Given the description of an element on the screen output the (x, y) to click on. 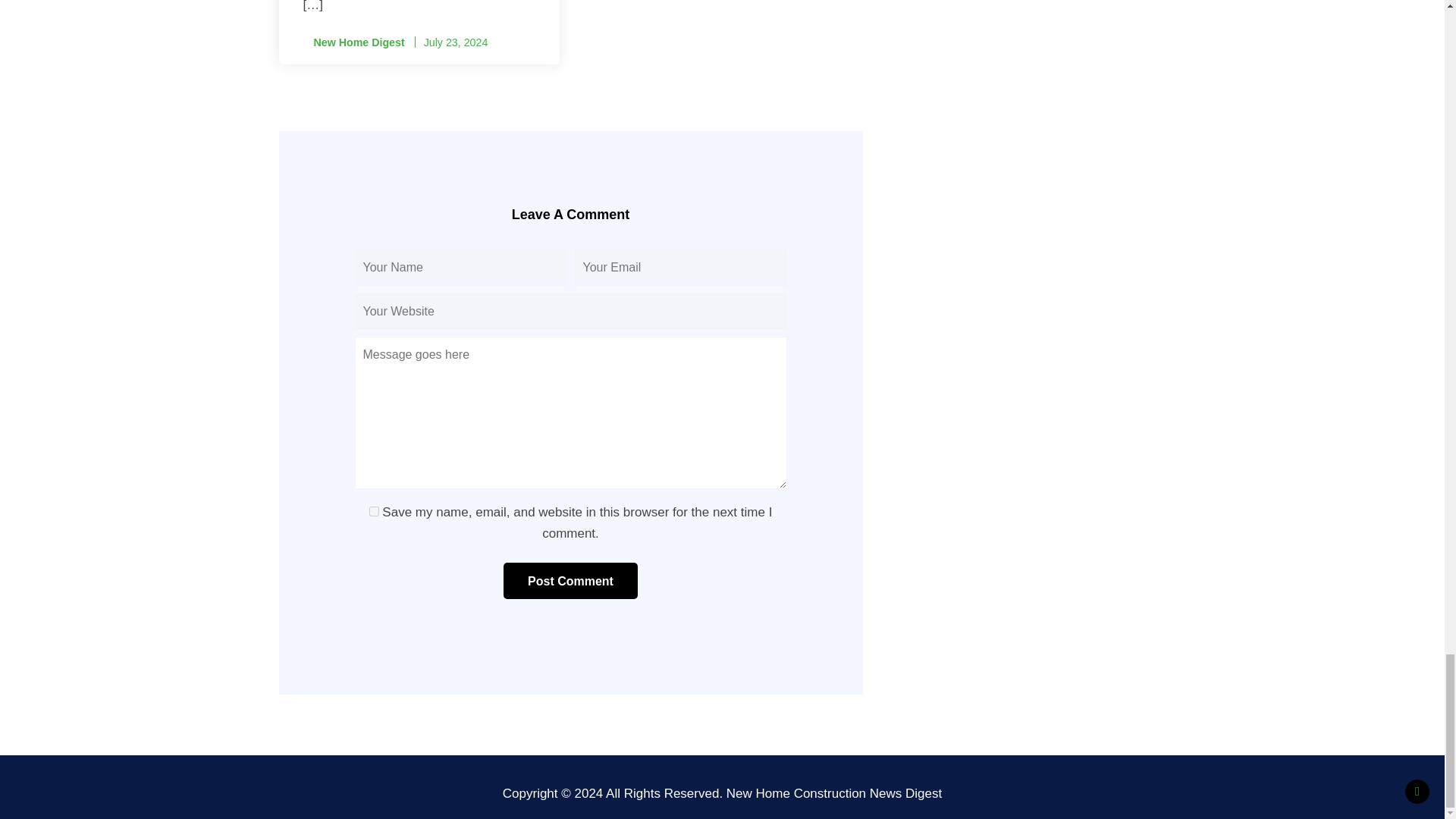
yes (373, 511)
July 23, 2024 (455, 42)
New Home Digest (353, 42)
Post Comment (570, 580)
